Given the description of an element on the screen output the (x, y) to click on. 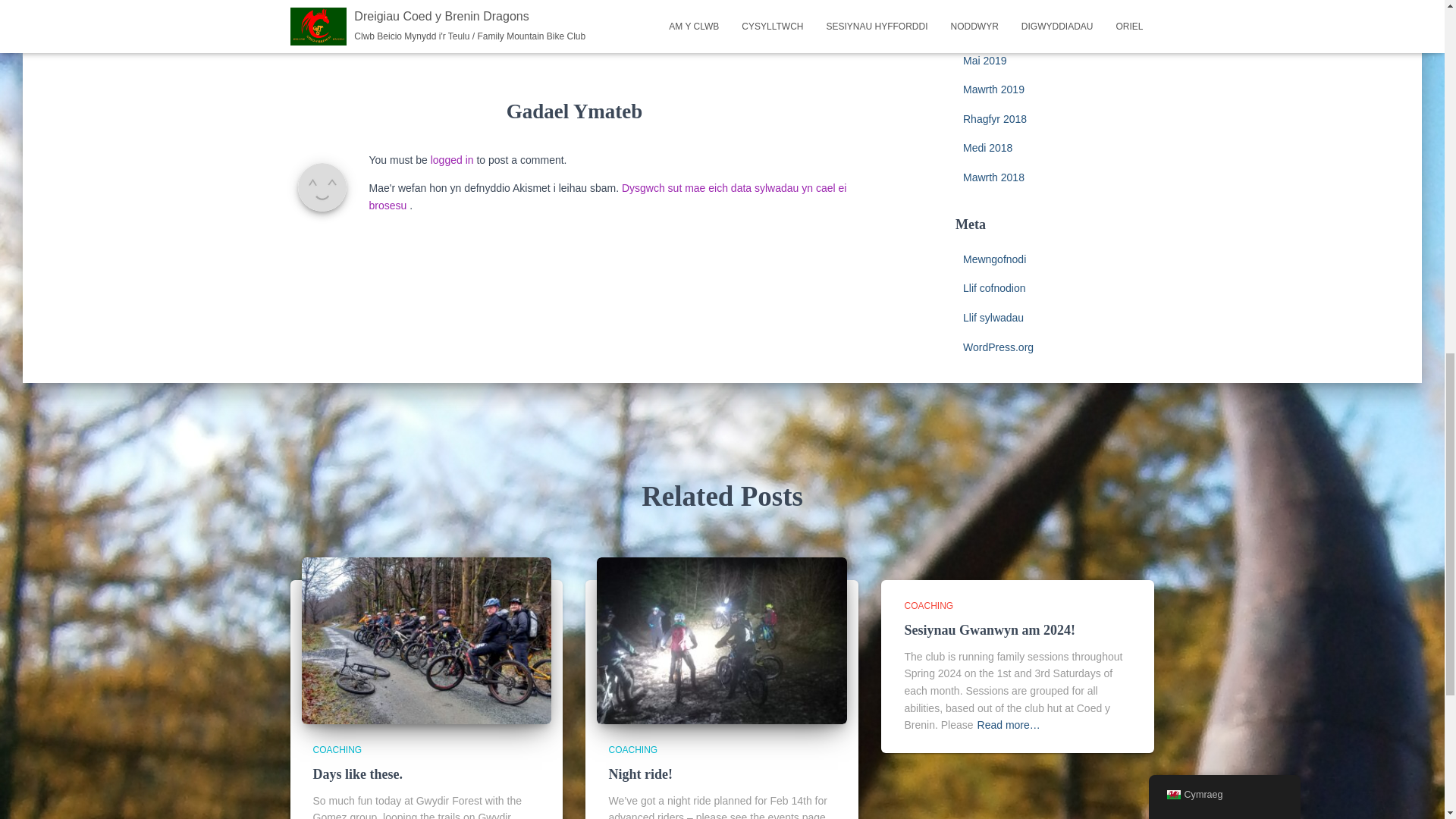
WordPress.org (997, 346)
COACHING (337, 749)
Mawrth 2019 (993, 89)
Llif sylwadau (992, 317)
Ionawr 2020 (992, 30)
Mewngofnodi (994, 259)
Days like these. (358, 774)
Days like these. (358, 774)
Mai 2019 (984, 60)
Days like these. (426, 639)
Rhagfyr 2018 (994, 119)
logged in (452, 159)
Night ride! (721, 639)
Ionawr 2024 (992, 3)
View all posts in Coaching (928, 605)
